Given the description of an element on the screen output the (x, y) to click on. 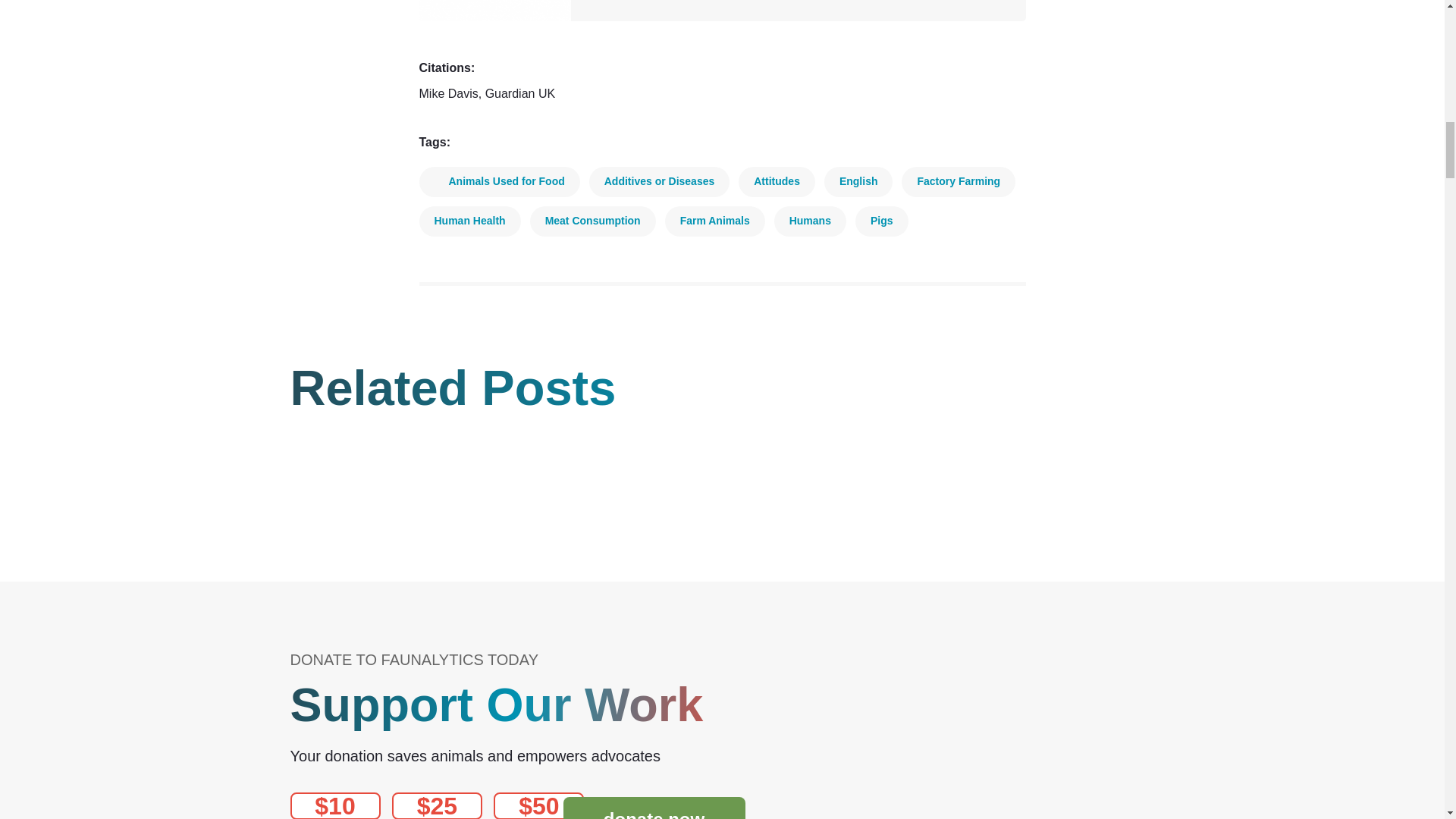
DONATE NOW (653, 807)
